Given the description of an element on the screen output the (x, y) to click on. 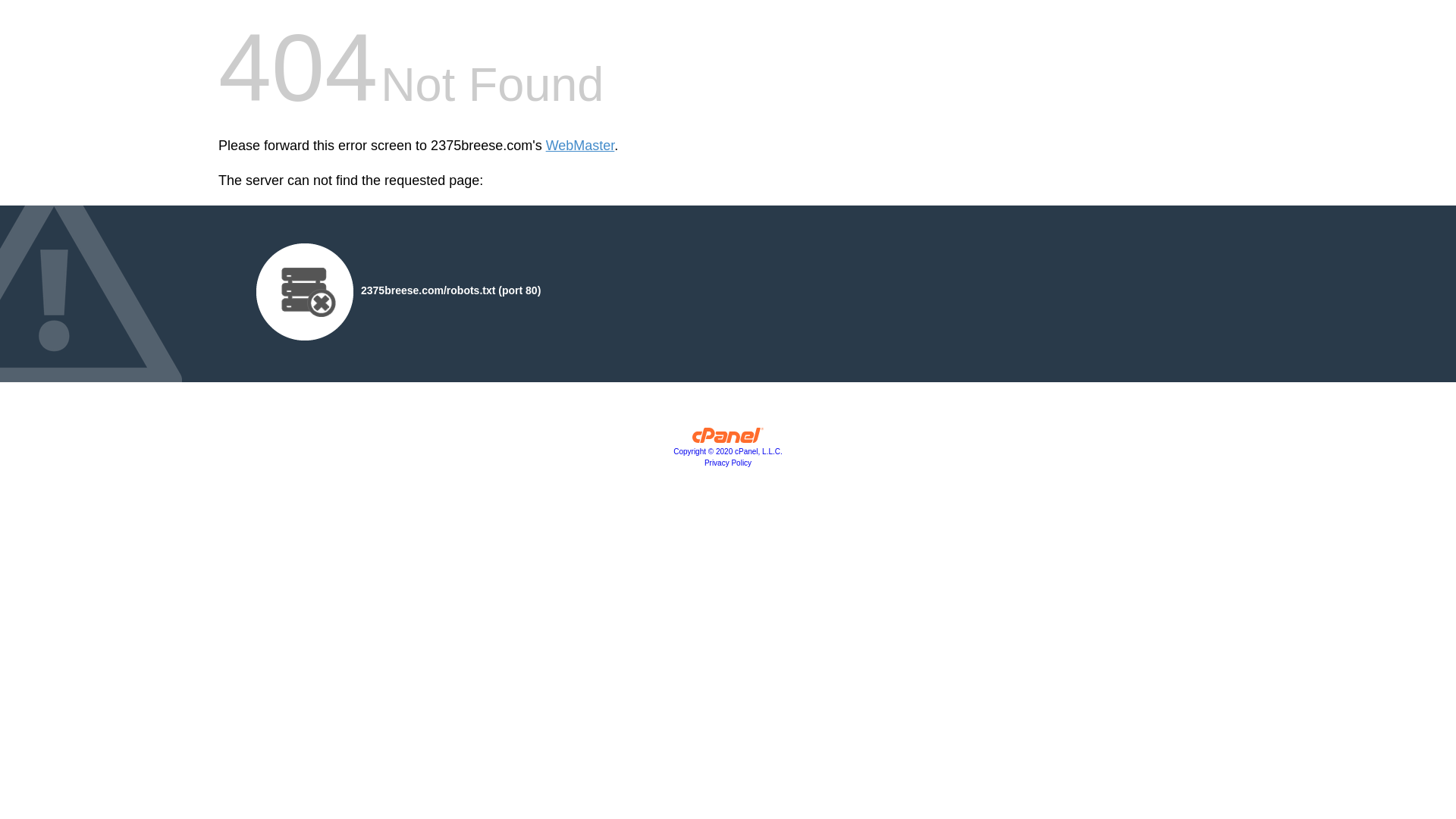
cPanel, Inc. Element type: hover (728, 439)
WebMaster Element type: text (580, 145)
Privacy Policy Element type: text (727, 462)
